Given the description of an element on the screen output the (x, y) to click on. 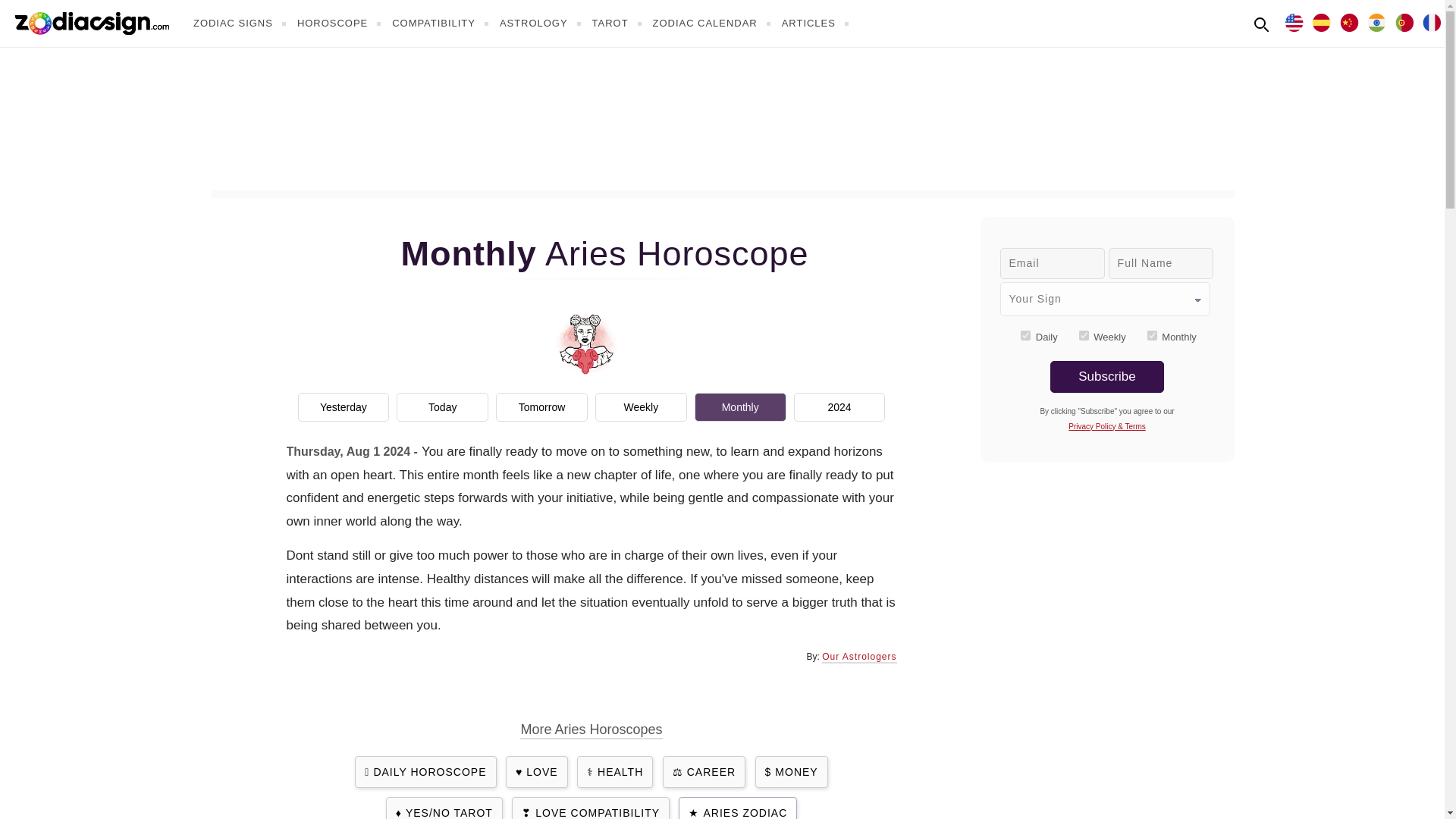
monthly (1152, 335)
weekly (1083, 335)
ZODIAC SIGNS (241, 23)
HOROSCOPE (341, 23)
daily (1025, 335)
In English (1294, 21)
